Given the description of an element on the screen output the (x, y) to click on. 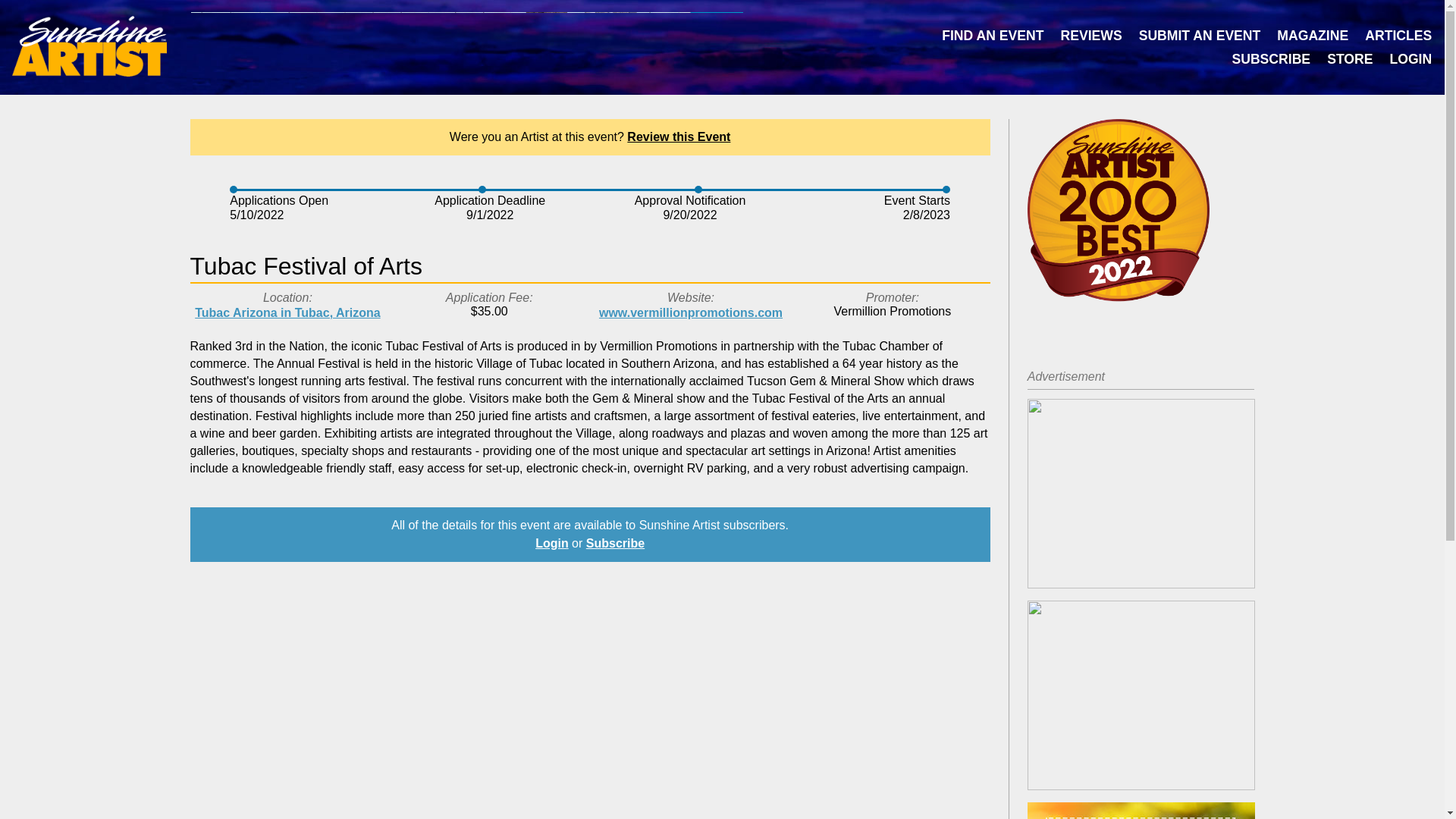
REVIEWS (1090, 36)
ARTICLES (1398, 36)
SUBSCRIBE (1270, 60)
LOGIN (1410, 60)
Login (552, 543)
SUBMIT AN EVENT (1199, 36)
www.vermillionpromotions.com (690, 312)
Review this Event (678, 136)
STORE (1349, 60)
Tubac Arizona in Tubac, Arizona (287, 312)
